Given the description of an element on the screen output the (x, y) to click on. 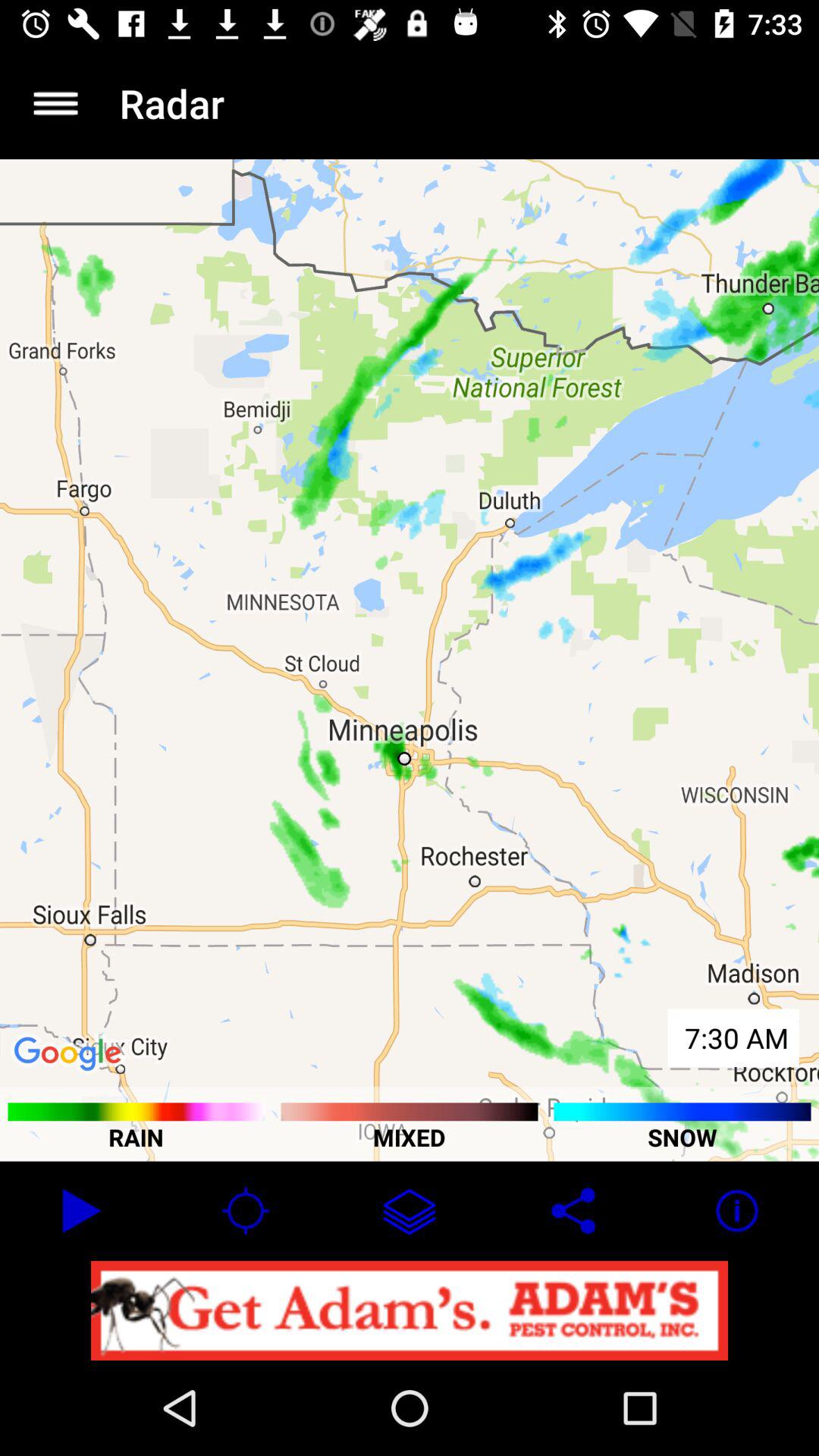
open icon next to the radar icon (55, 103)
